Given the description of an element on the screen output the (x, y) to click on. 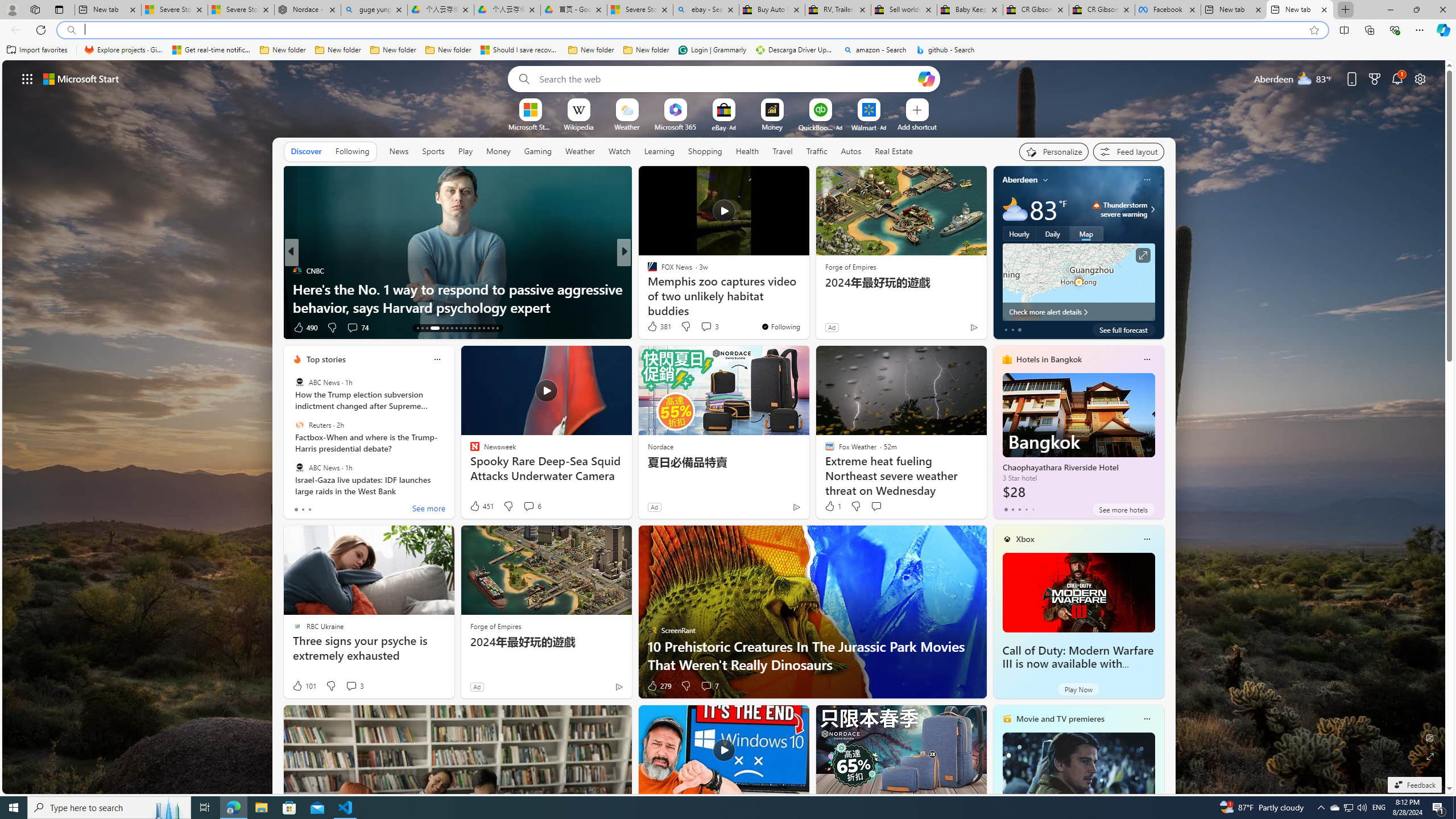
The 9 Biggest Sharks in the Atlantic Ocean (807, 307)
AutomationID: tab-25 (478, 328)
